Given the description of an element on the screen output the (x, y) to click on. 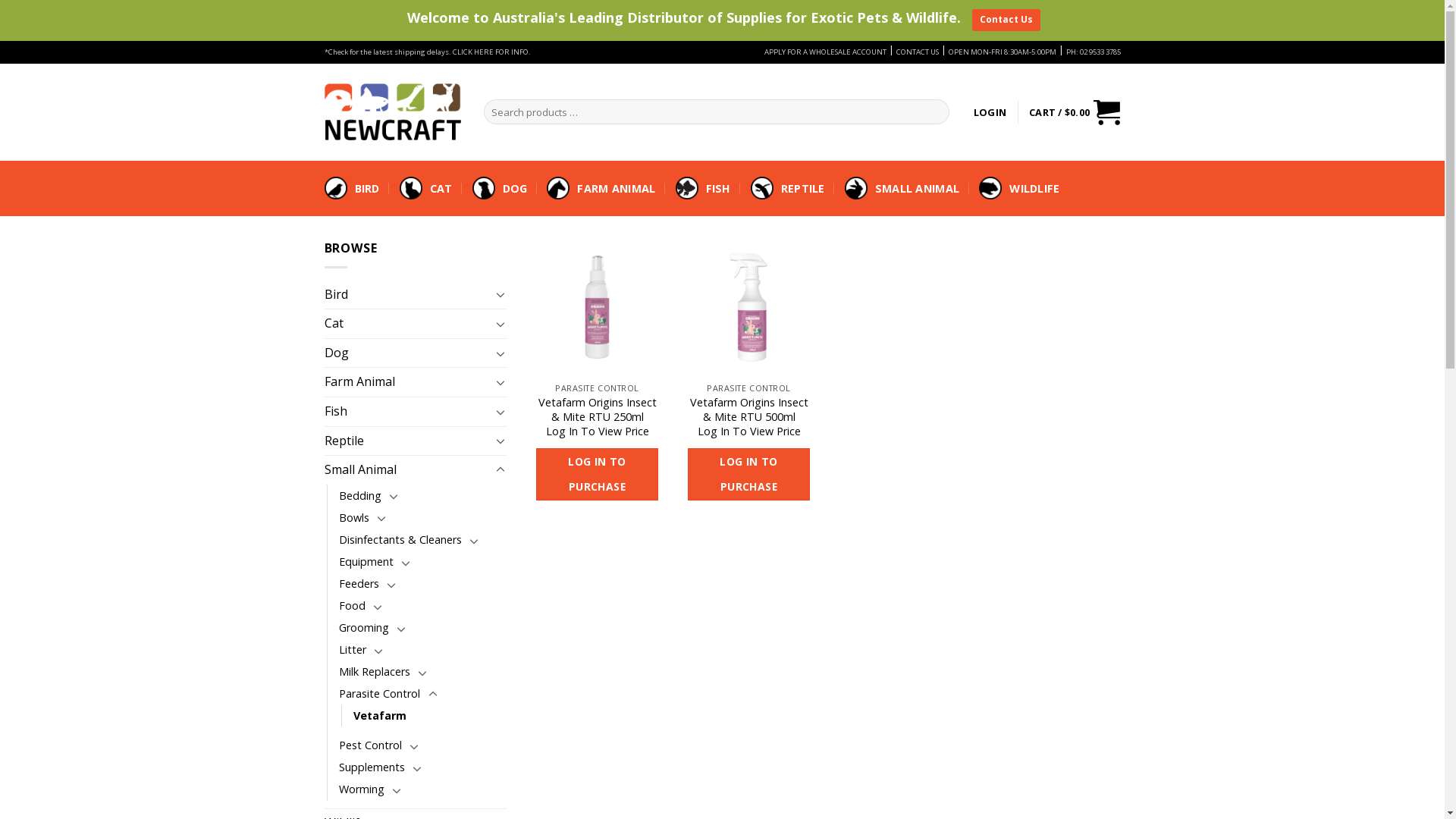
Bedding Element type: text (359, 495)
LOG IN TO PURCHASE Element type: text (596, 474)
CAT Element type: text (440, 188)
Reptile Element type: text (407, 440)
Parasite Control Element type: text (378, 693)
APPLY FOR A WHOLESALE ACCOUNT Element type: text (825, 51)
Feeders Element type: text (358, 583)
PH: 02 9533 3785 Element type: text (1093, 51)
Fish Element type: text (407, 411)
CLICK HERE FOR INFO. Element type: text (490, 51)
Food Element type: text (351, 605)
FARM ANIMAL Element type: text (616, 188)
Pest Control Element type: text (369, 745)
CART / $0.00 Element type: text (1074, 111)
Cat Element type: text (407, 323)
Vetafarm Origins Insect & Mite RTU 250ml Element type: text (596, 409)
Vetafarm Origins Insect & Mite RTU 500ml Element type: text (748, 409)
Equipment Element type: text (365, 561)
CONTACT US Element type: text (917, 51)
LOG IN TO PURCHASE Element type: text (748, 474)
Litter Element type: text (351, 649)
Worming Element type: text (360, 789)
Bird Element type: text (407, 294)
Newcraft - Wholesale Pet Supplies Online Element type: hover (392, 111)
Milk Replacers Element type: text (373, 671)
DOG Element type: text (514, 188)
WILDLIFE Element type: text (1034, 188)
Dog Element type: text (407, 352)
FISH Element type: text (718, 188)
Disinfectants & Cleaners Element type: text (399, 539)
REPTILE Element type: text (803, 188)
Supplements Element type: text (371, 767)
Bowls Element type: text (353, 517)
Contact Us Element type: text (1006, 20)
Small Animal Element type: text (407, 469)
BIRD Element type: text (366, 188)
Farm Animal Element type: text (407, 381)
Vetafarm Element type: text (379, 715)
*Check for the latest shipping delays.  Element type: text (388, 51)
LOGIN Element type: text (989, 111)
Grooming Element type: text (363, 627)
SMALL ANIMAL Element type: text (917, 188)
OPEN MON-FRI 8:30AM-5:00PM Element type: text (1001, 51)
